Given the description of an element on the screen output the (x, y) to click on. 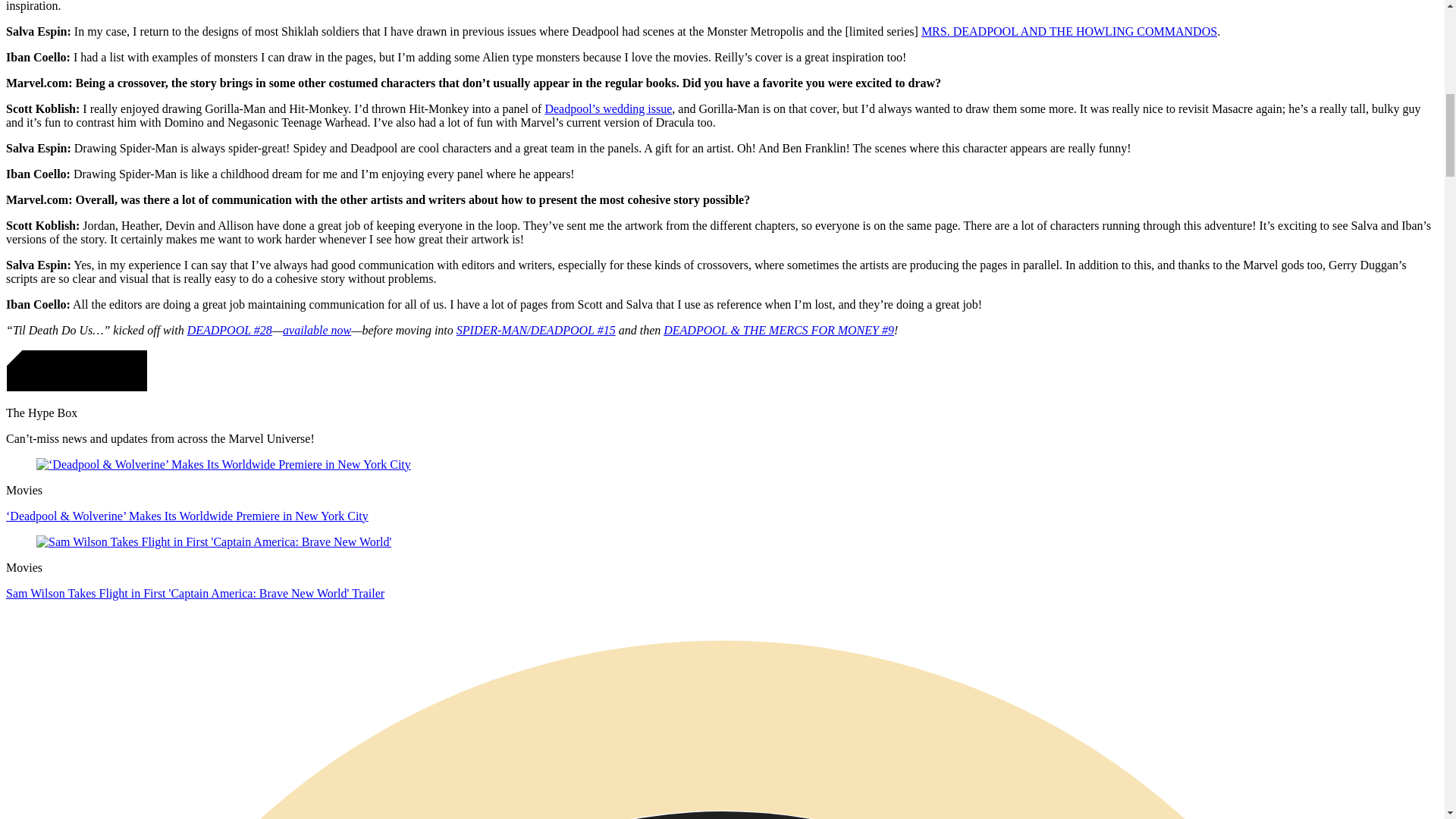
MRS. DEADPOOL AND THE HOWLING COMMANDOS (1069, 31)
available now (316, 329)
